Given the description of an element on the screen output the (x, y) to click on. 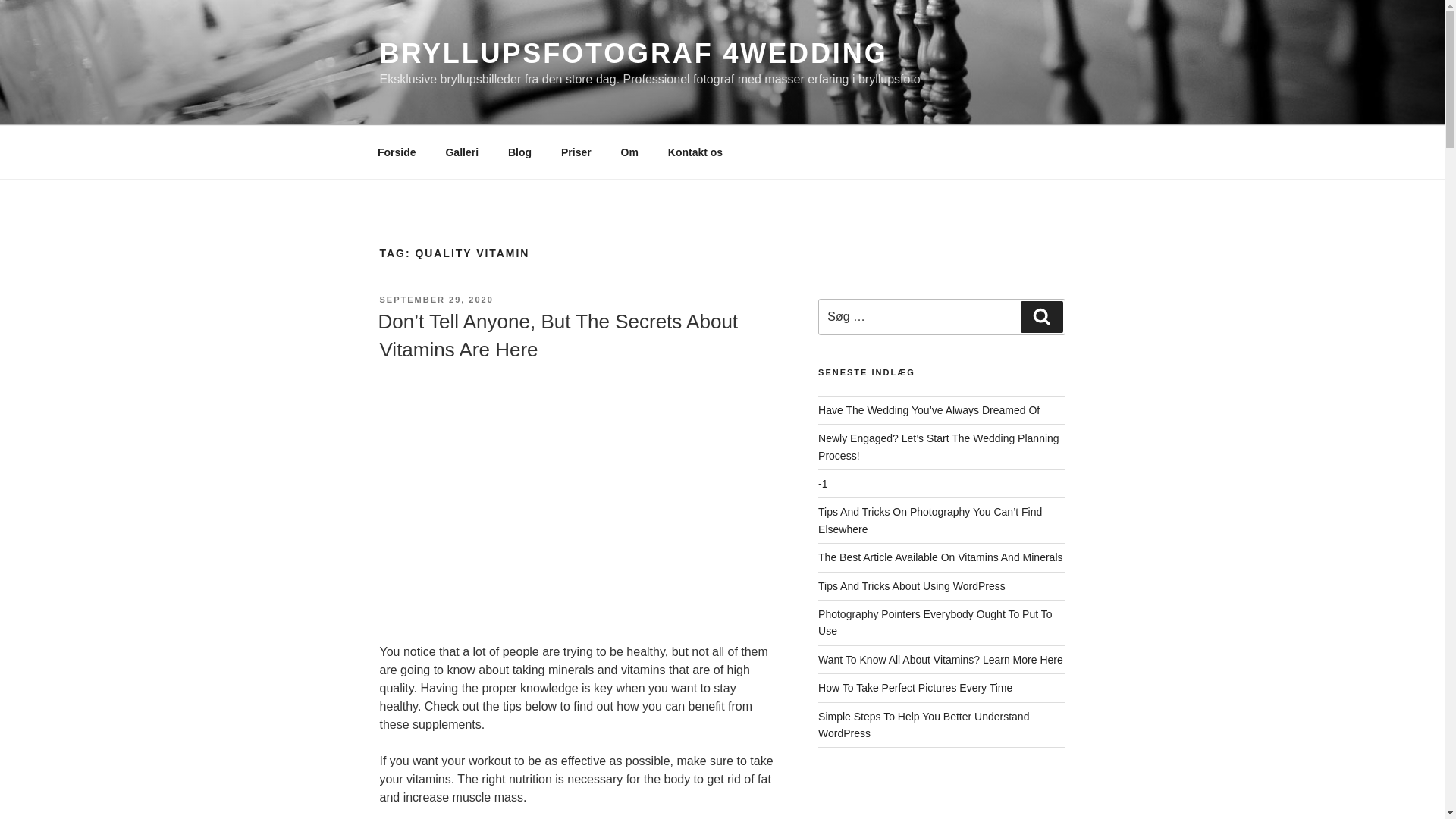
SEPTEMBER 29, 2020 (435, 298)
Simple Steps To Help You Better Understand WordPress (923, 724)
Tips And Tricks About Using WordPress (912, 585)
How To Take Perfect Pictures Every Time (914, 687)
The Best Article Available On Vitamins And Minerals (940, 557)
Om (628, 151)
Blog (519, 151)
Photography Pointers Everybody Ought To Put To Use (934, 622)
Want To Know All About Vitamins? Learn More Here (940, 659)
Priser (575, 151)
Galleri (462, 151)
Kontakt os (694, 151)
Forside (396, 151)
BRYLLUPSFOTOGRAF 4WEDDING (632, 52)
